Given the description of an element on the screen output the (x, y) to click on. 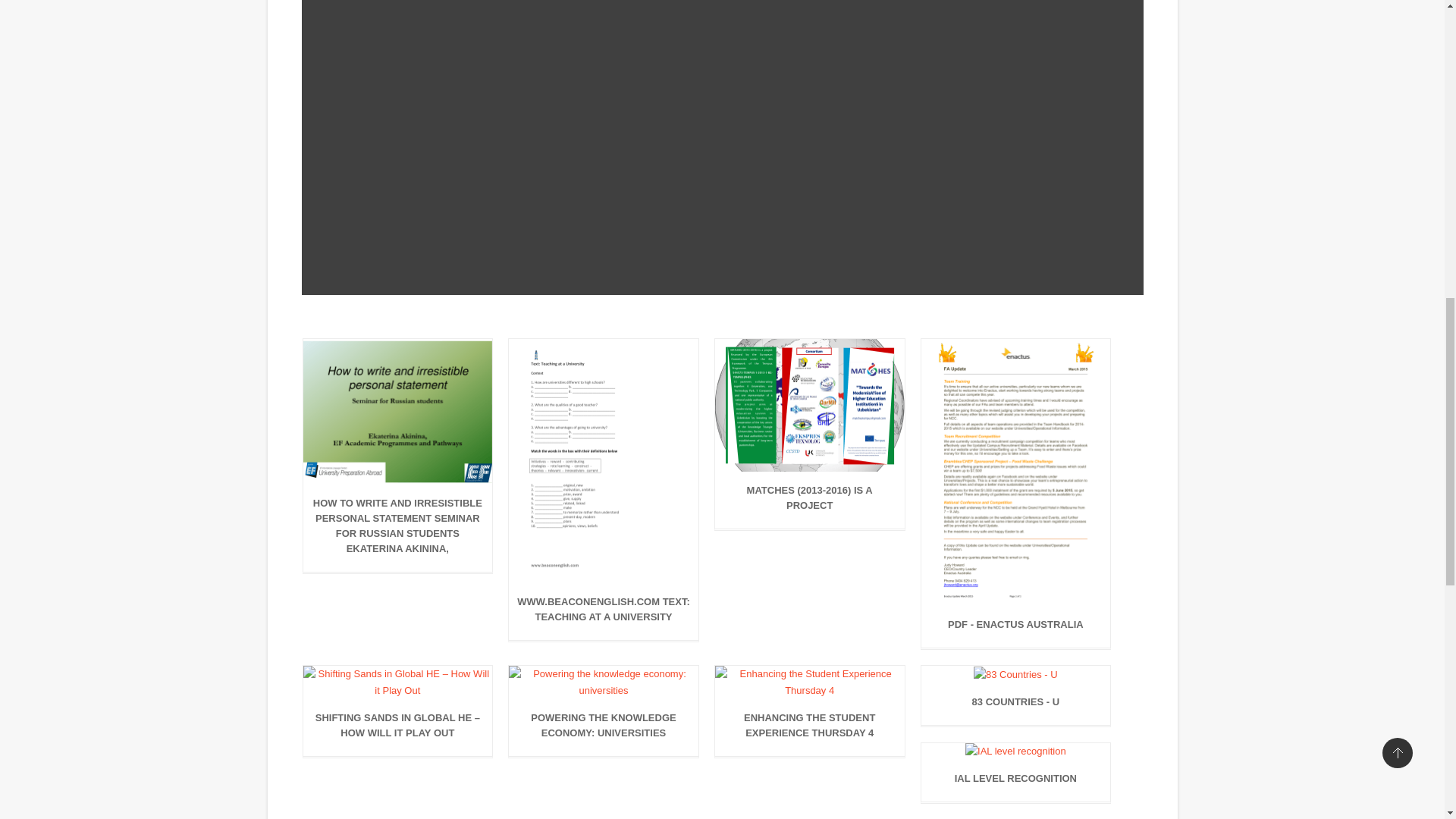
IAL LEVEL RECOGNITION (1015, 782)
www.beaconenglish.com Text: Teaching at a University (603, 613)
83 COUNTRIES - U (1015, 705)
Powering the knowledge economy: universities (603, 729)
IAL level recognition (1015, 782)
WWW.BEACONENGLISH.COM TEXT: TEACHING AT A UNIVERSITY (603, 613)
PDF - Enactus Australia (1015, 628)
POWERING THE KNOWLEDGE ECONOMY: UNIVERSITIES (603, 729)
ENHANCING THE STUDENT EXPERIENCE THURSDAY 4 (809, 729)
